Given the description of an element on the screen output the (x, y) to click on. 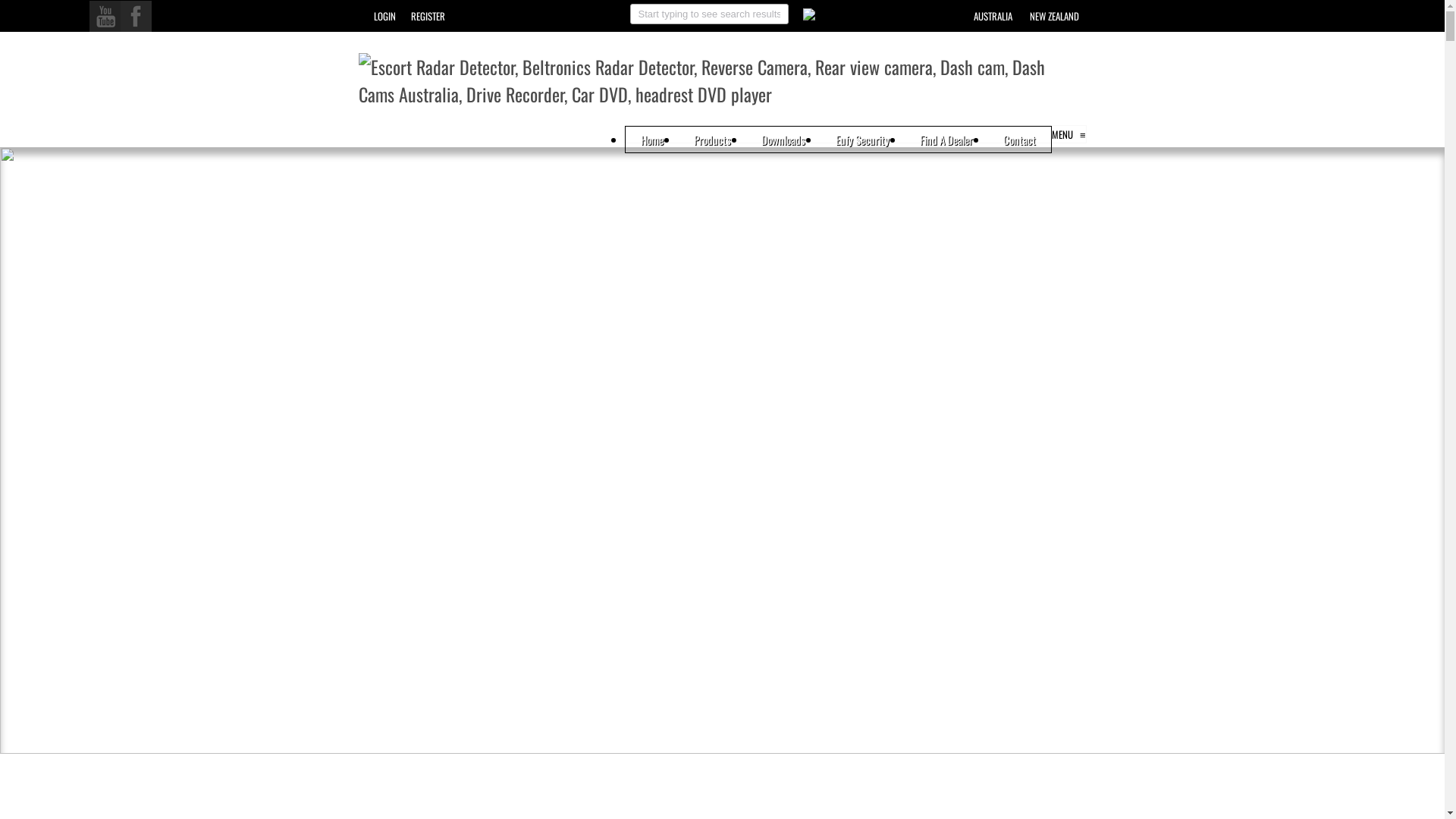
AUSTRALIA Element type: text (992, 15)
Eufy Security Element type: text (862, 139)
NEW ZEALAND Element type: text (1054, 15)
Find A Dealer Element type: text (946, 139)
REGISTER Element type: text (428, 15)
LOGIN Element type: text (384, 15)
Downloads Element type: text (782, 139)
Products Element type: text (712, 139)
Contact Element type: text (1019, 139)
Home Element type: text (651, 139)
